Given the description of an element on the screen output the (x, y) to click on. 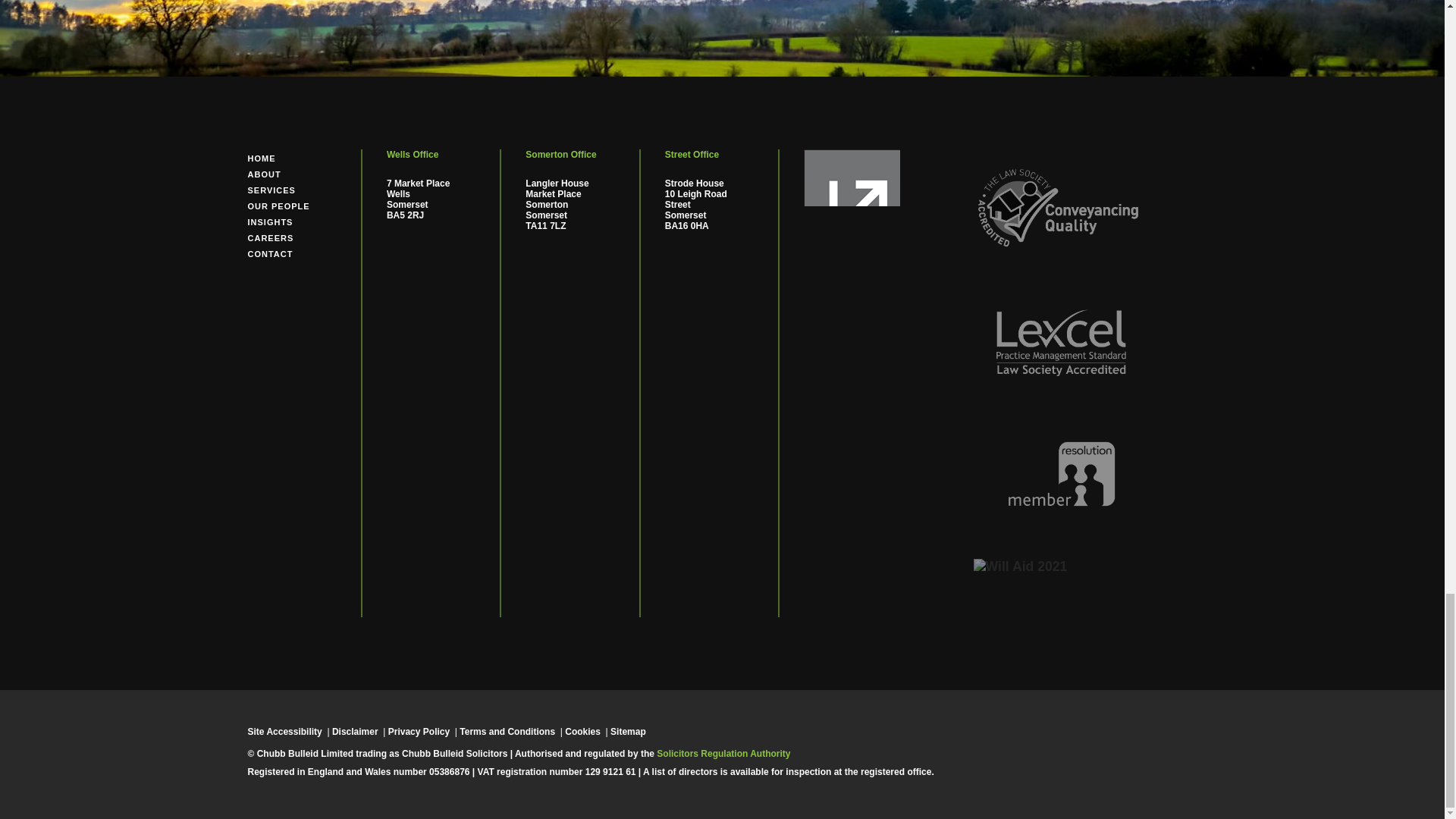
Resolution Member Accreditated (1061, 513)
Conveyancing Quality Accredited (1061, 253)
Will Aid 2021  (1020, 566)
Lexcel Practice Management Accredited (1061, 383)
